Given the description of an element on the screen output the (x, y) to click on. 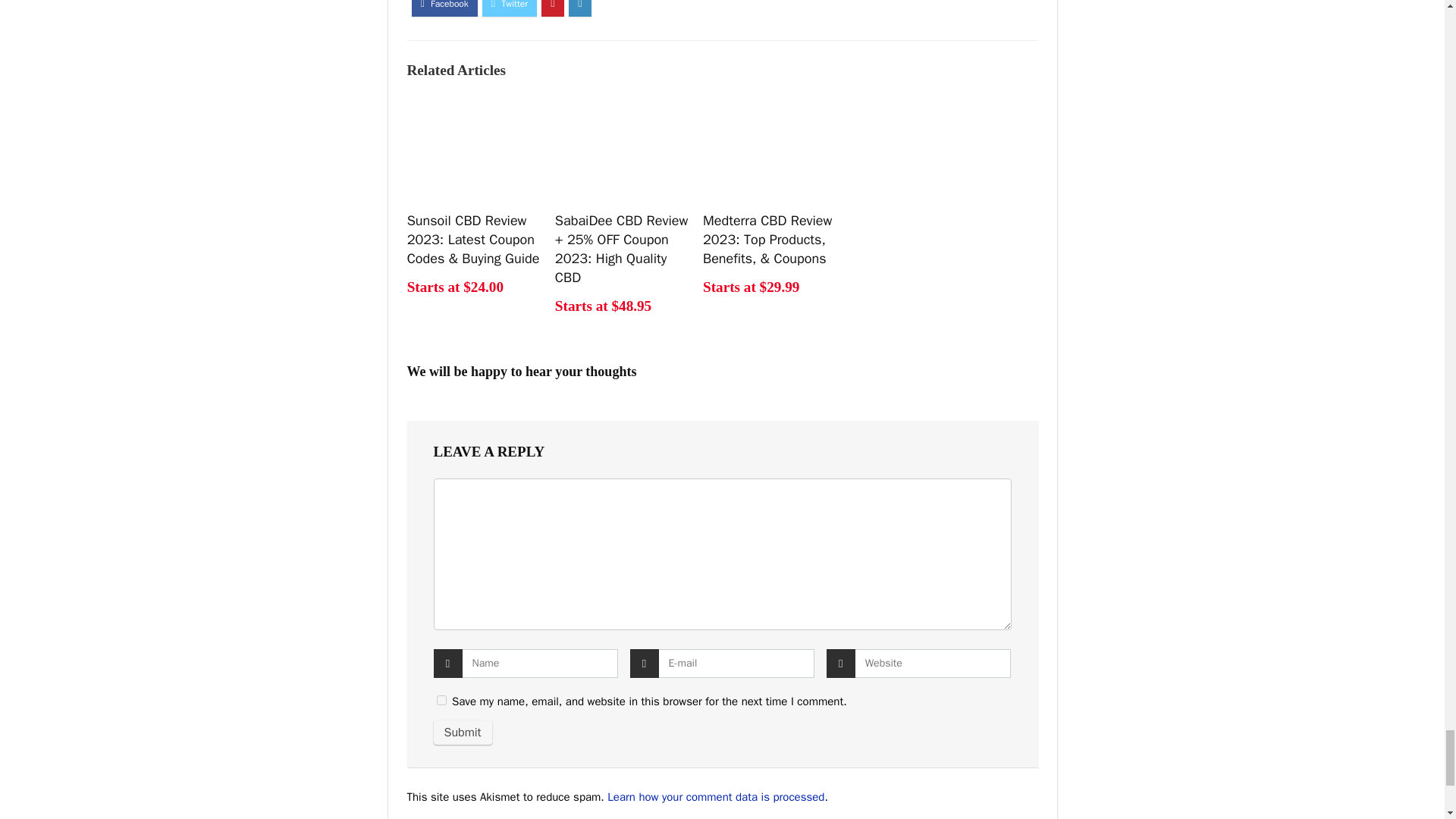
yes (441, 700)
Submit (462, 732)
